Given the description of an element on the screen output the (x, y) to click on. 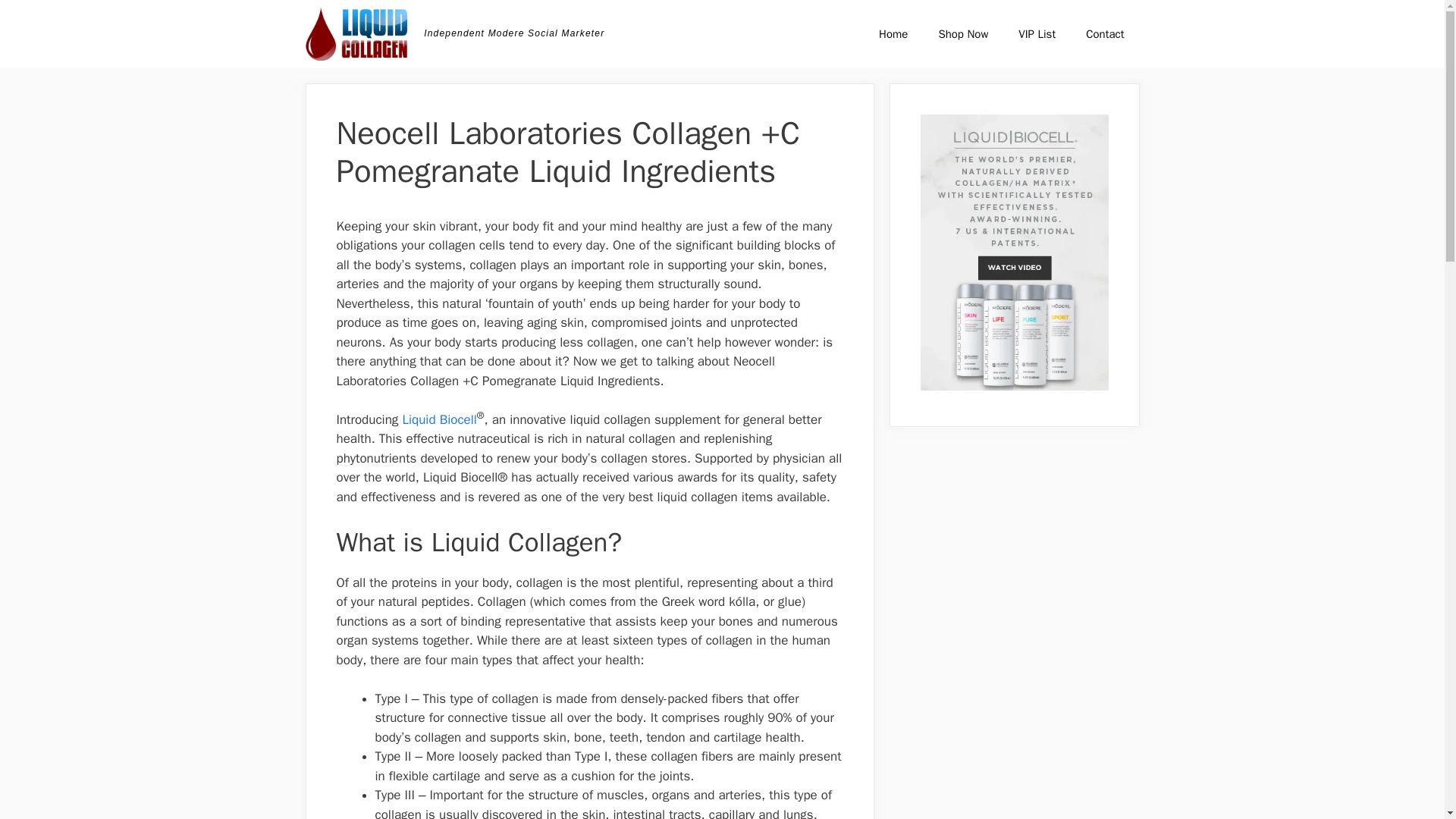
Liquid Biocell (438, 419)
BestLiquidCollagen.com (355, 33)
Shop Now (963, 33)
Home (893, 33)
VIP List (1036, 33)
BestLiquidCollagen.com (359, 33)
Contact (1104, 33)
